Given the description of an element on the screen output the (x, y) to click on. 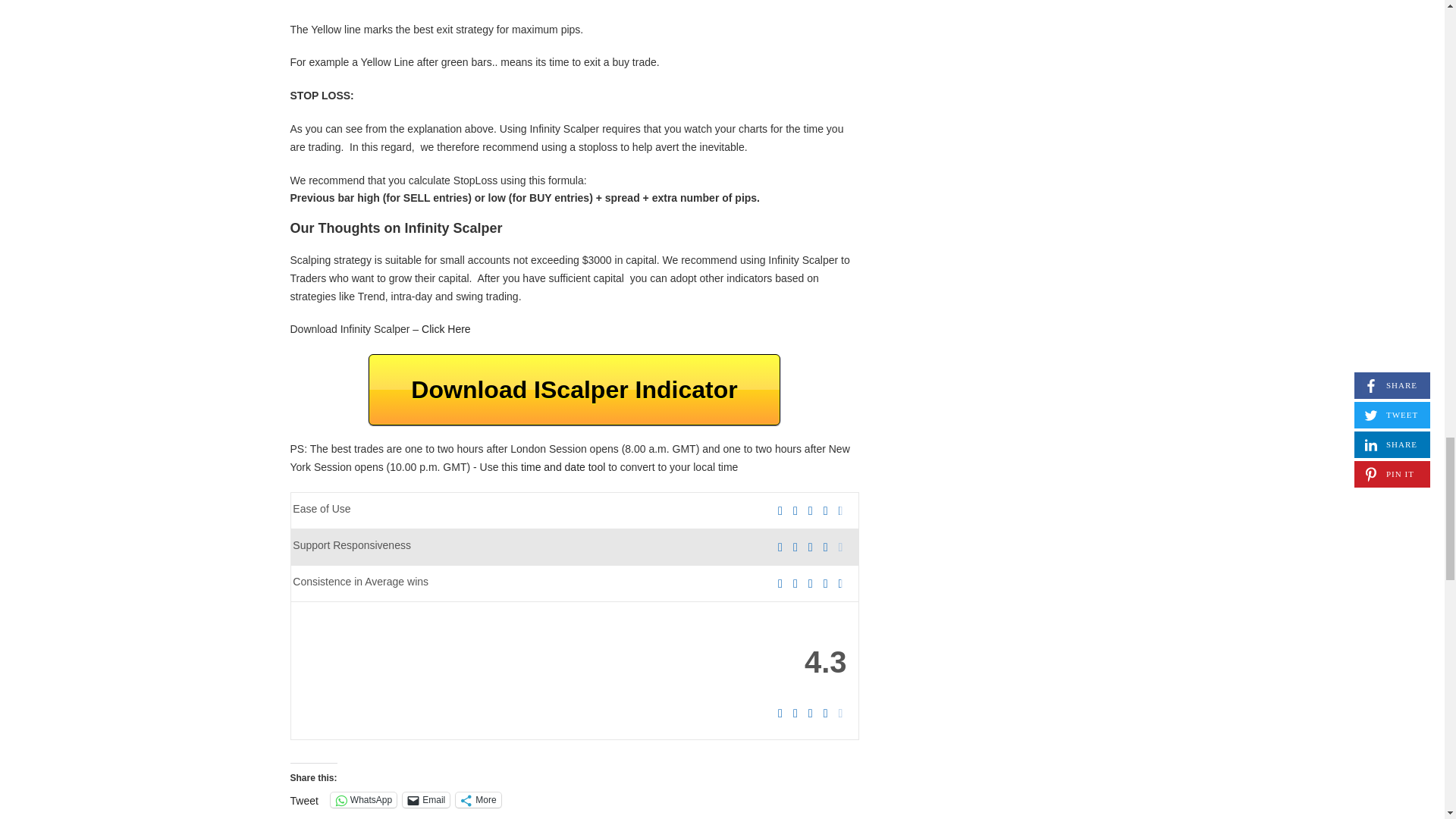
Download IScalper Indicator (573, 389)
Click Here (446, 328)
More (477, 799)
Click to email a link to a friend (426, 799)
time and date tool (563, 467)
Click to share on WhatsApp (363, 799)
Tweet (303, 798)
WhatsApp (363, 799)
Email (426, 799)
